Given the description of an element on the screen output the (x, y) to click on. 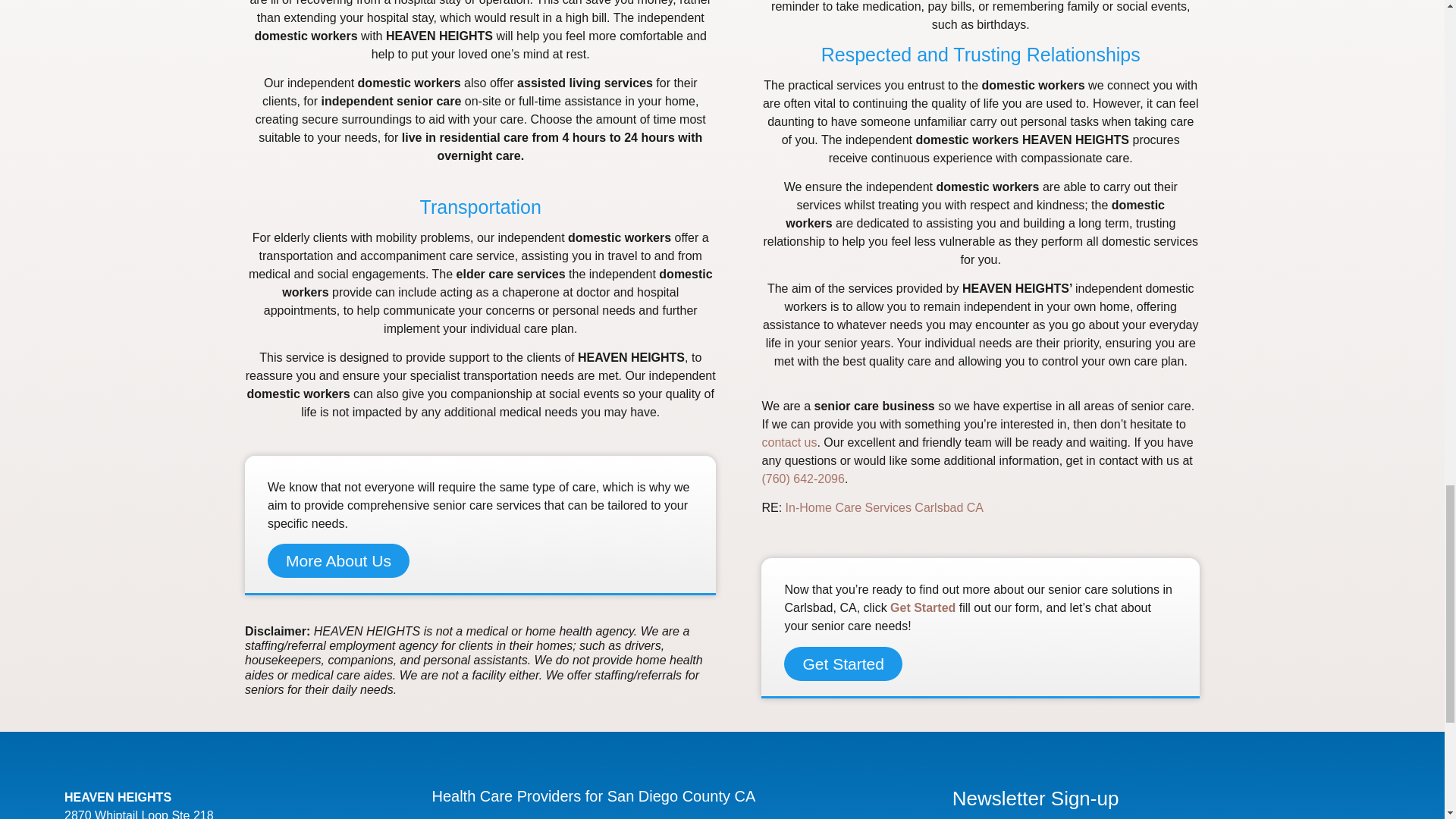
contact us (788, 441)
Get Started (842, 663)
In-Home Care Services Carlsbad CA (885, 507)
More About Us (338, 560)
Get Started (922, 607)
In Home care Services Carlsbad CA (885, 507)
